Given the description of an element on the screen output the (x, y) to click on. 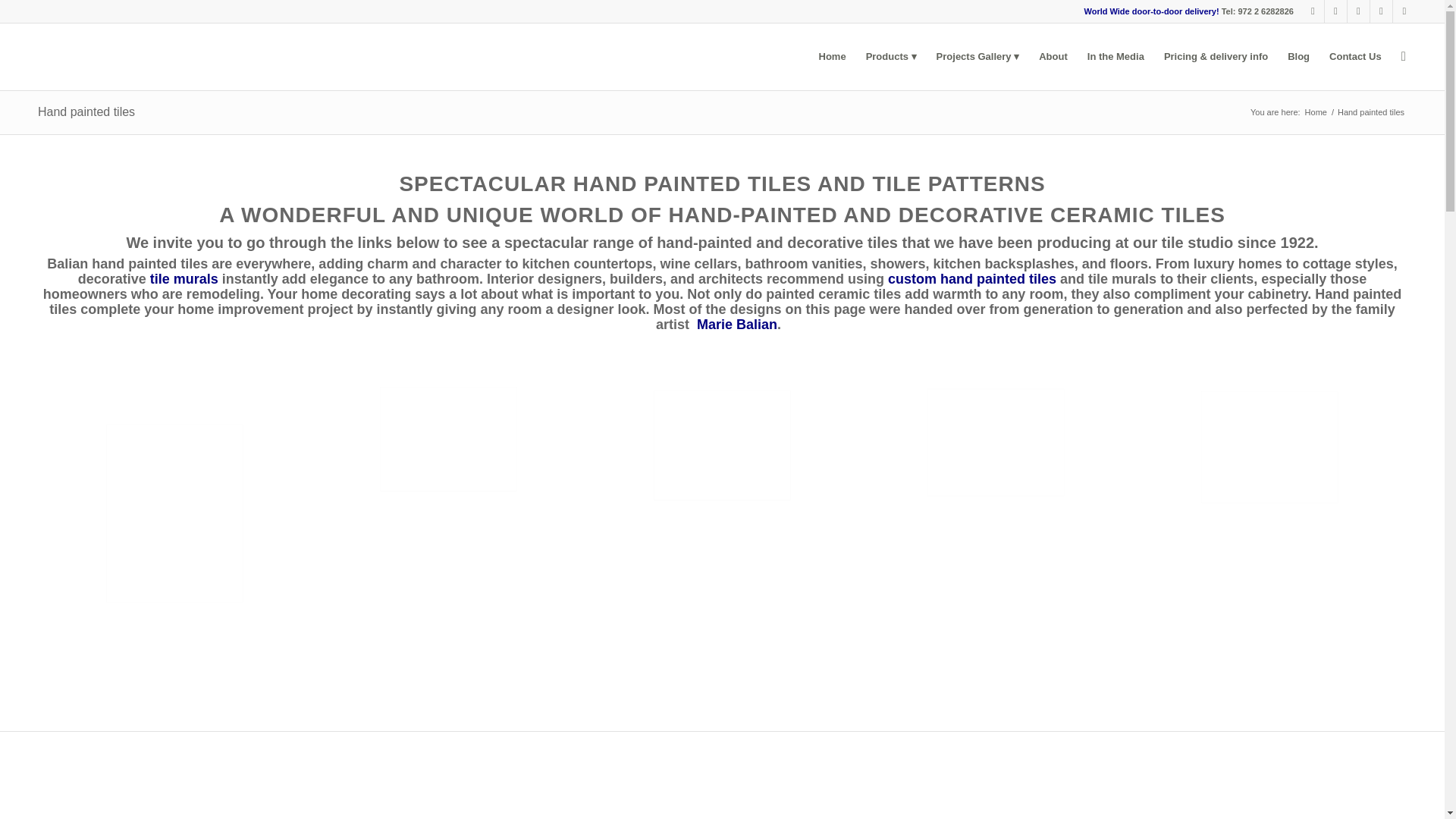
Pinterest (1404, 11)
Twitter (1380, 11)
Facebook (1312, 11)
Tel: 972 2 6282826 (1257, 10)
Swimming Pool Tiles (891, 56)
Hand painted Pool Tiles in Hawaii (448, 438)
Instagram (1335, 11)
Projects Gallery (977, 56)
Products (891, 56)
Permanent Link: Hand painted tiles (86, 111)
